Given the description of an element on the screen output the (x, y) to click on. 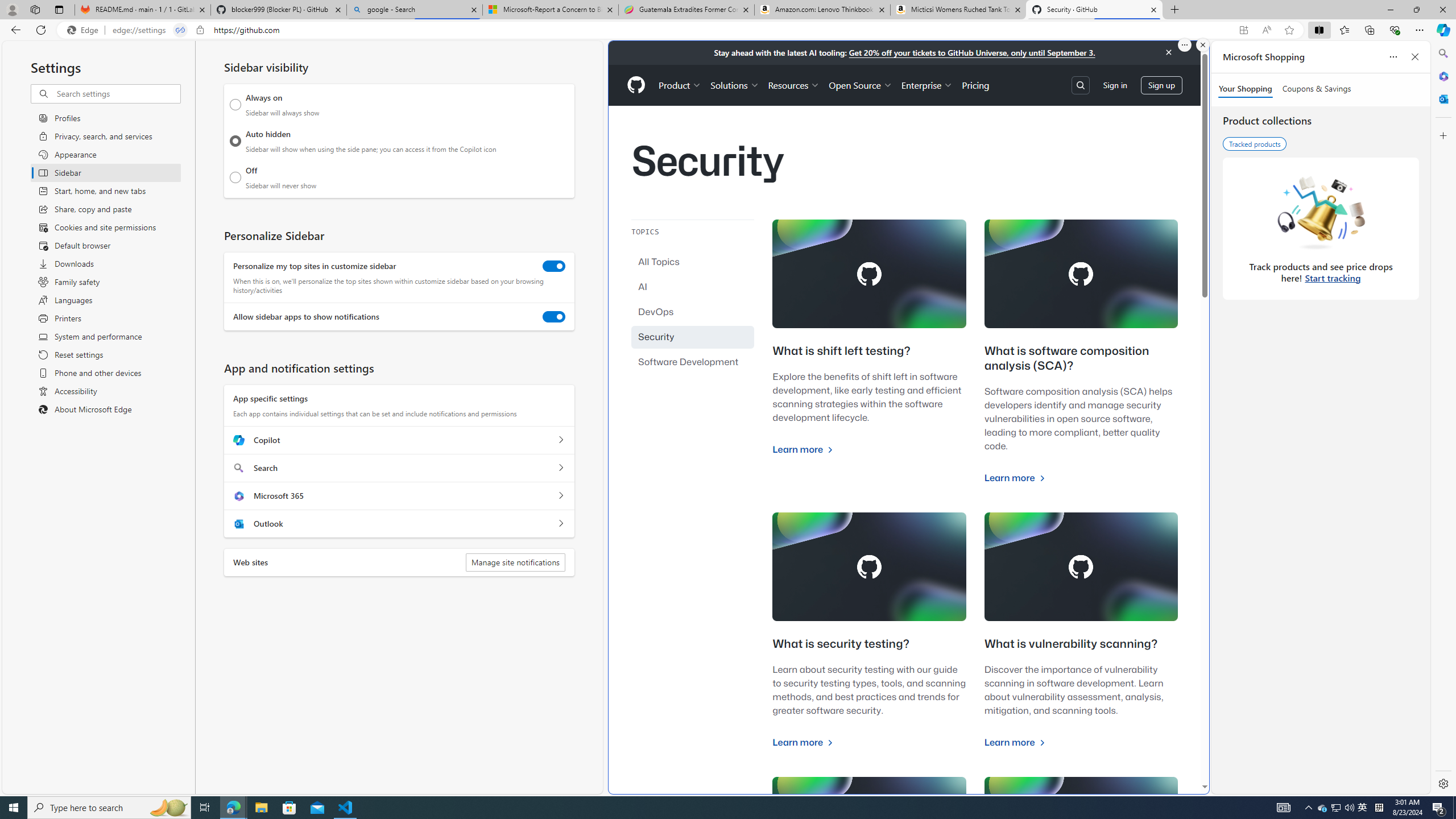
Open Source (860, 84)
